Given the description of an element on the screen output the (x, y) to click on. 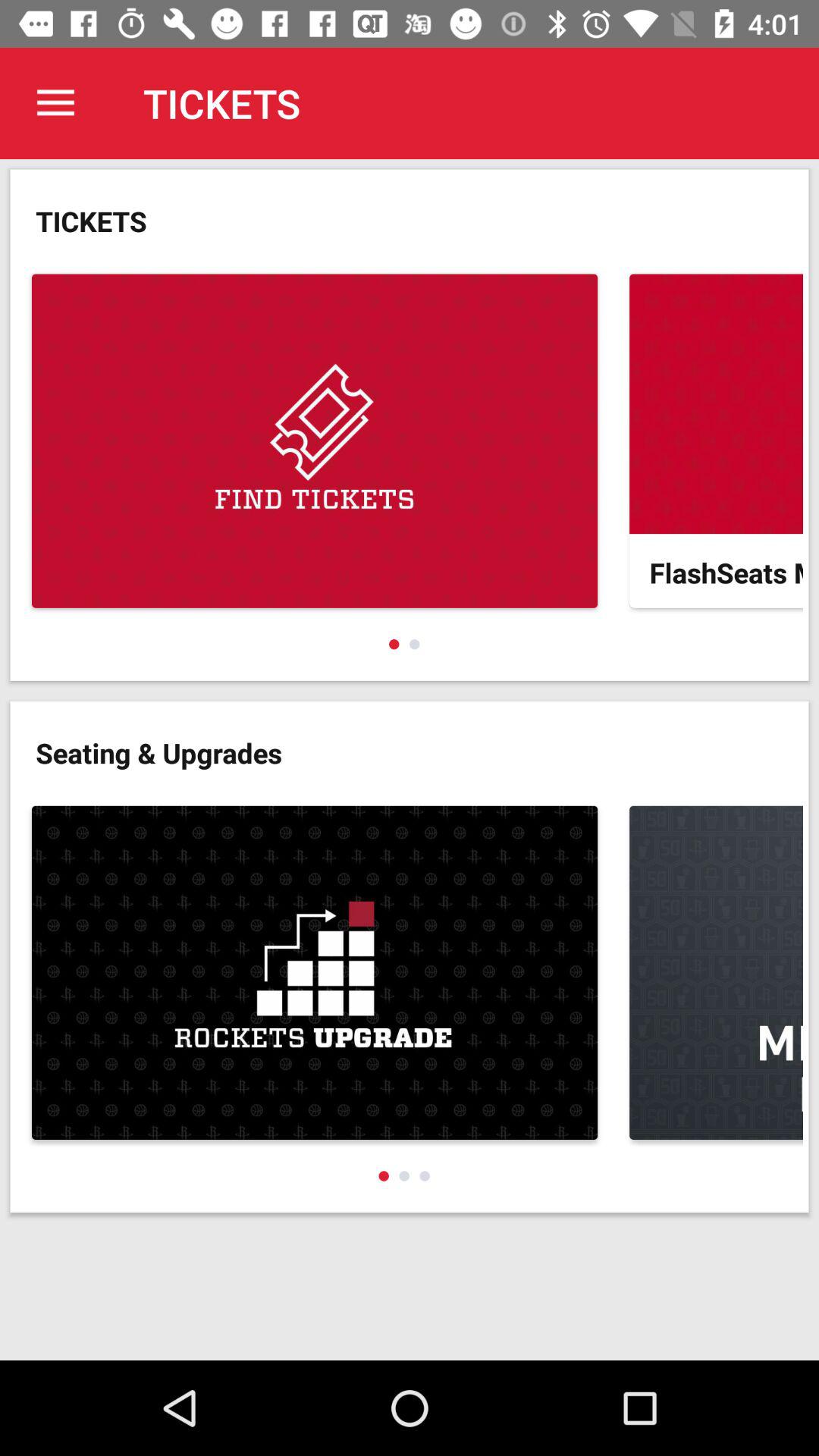
turn on the item to the left of the tickets item (55, 103)
